Given the description of an element on the screen output the (x, y) to click on. 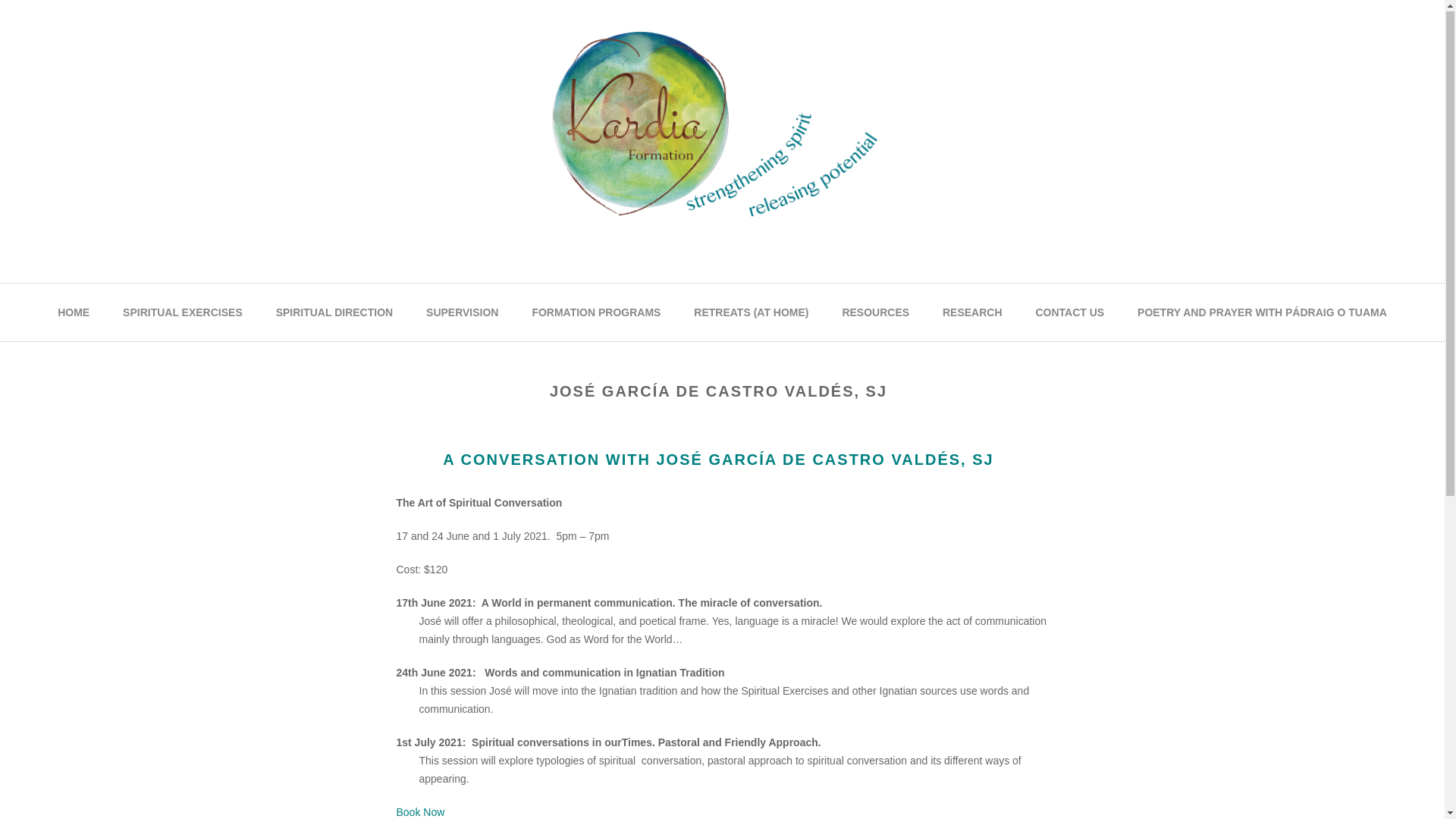
Kardia Formation Element type: hover (721, 241)
HOME Element type: text (73, 313)
CONTACT US Element type: text (1069, 313)
RESOURCES Element type: text (875, 313)
SPIRITUAL DIRECTION Element type: text (334, 313)
FORMATION PROGRAMS Element type: text (595, 313)
RESEARCH Element type: text (972, 313)
SUPERVISION Element type: text (462, 313)
RETREATS (AT HOME) Element type: text (751, 313)
SPIRITUAL EXERCISES Element type: text (182, 313)
